Given the description of an element on the screen output the (x, y) to click on. 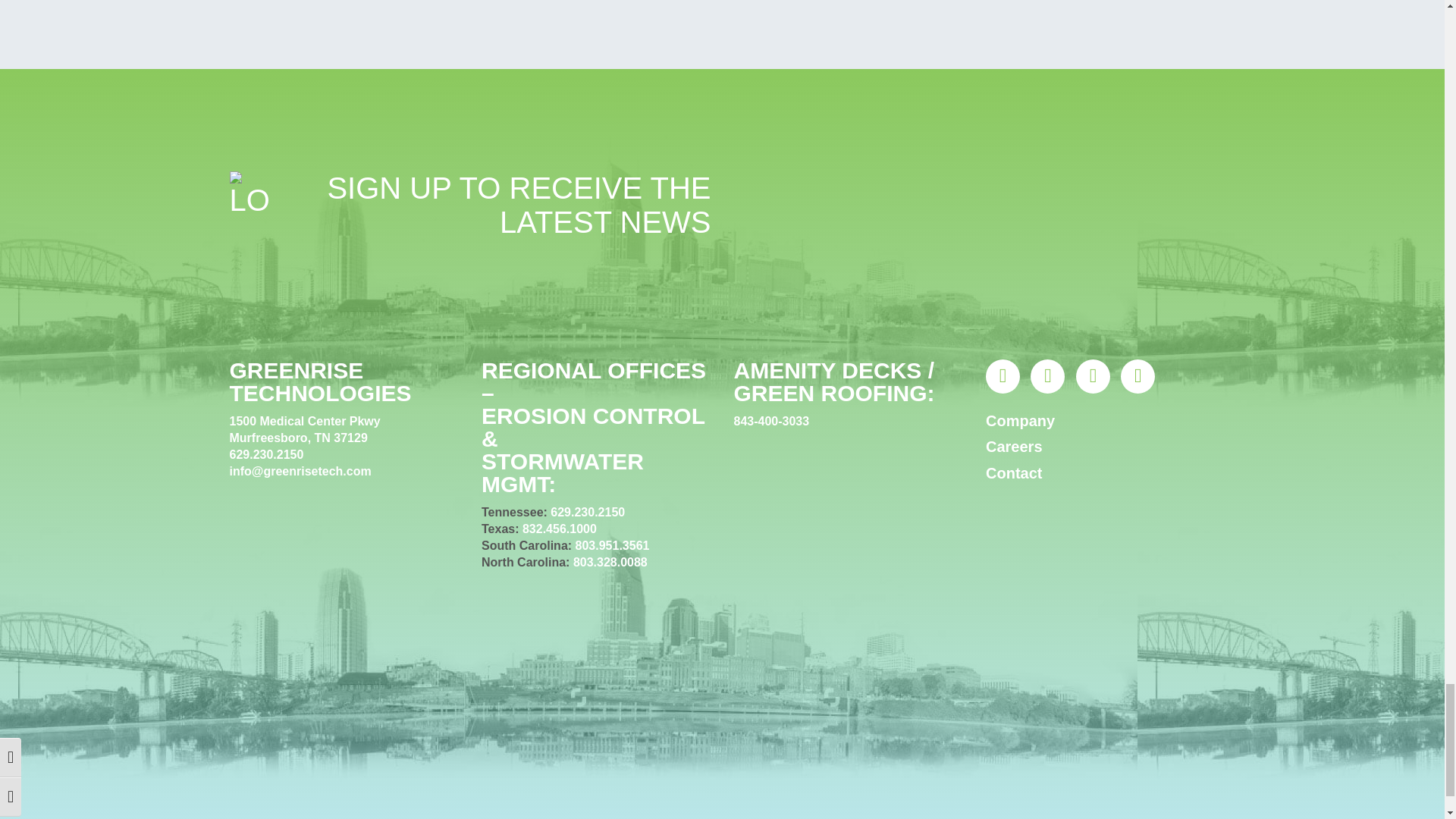
Form 0 (974, 227)
